Given the description of an element on the screen output the (x, y) to click on. 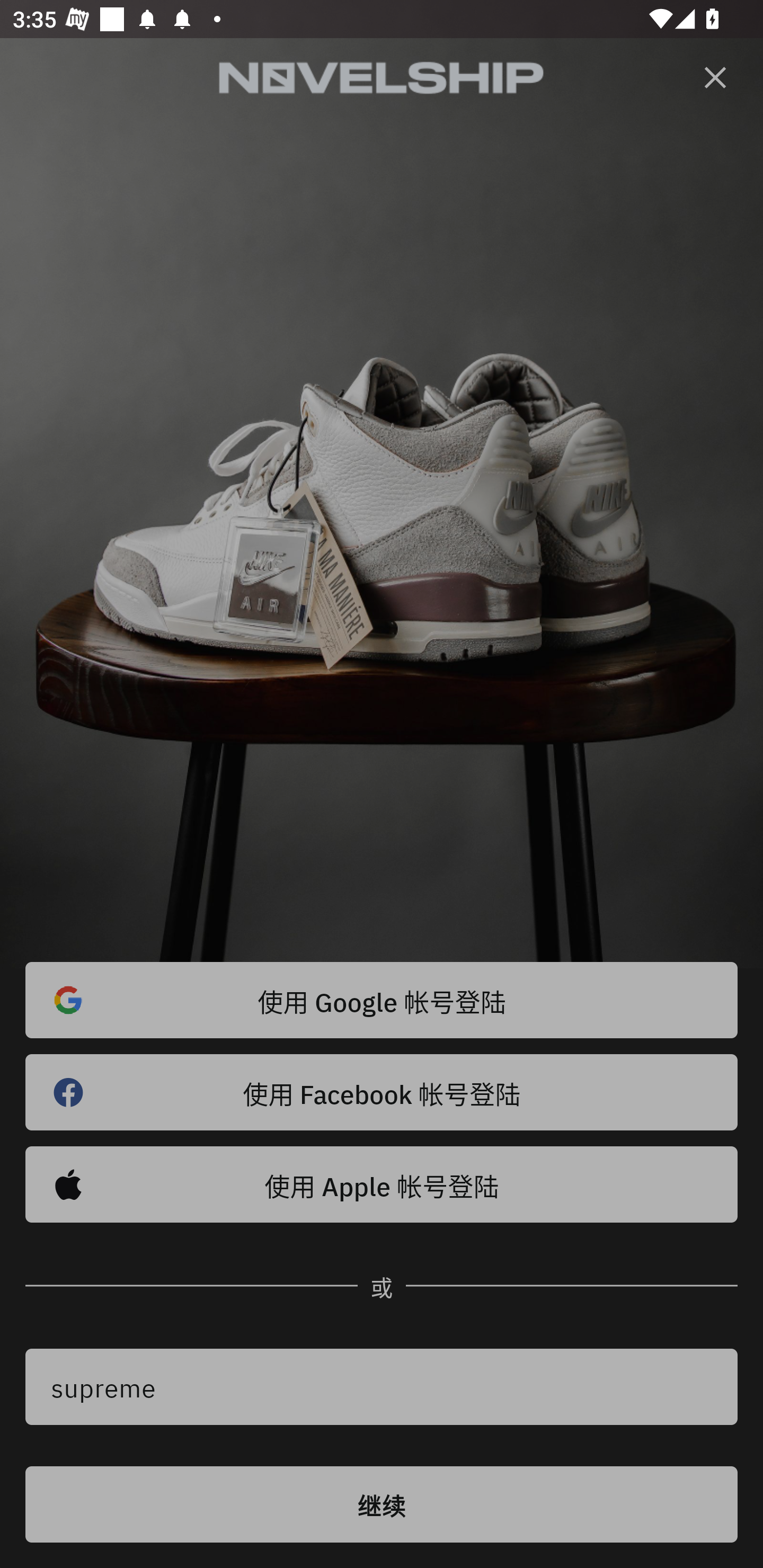
使用 Google 帐号登陆 (381, 1000)
使用 Facebook 帐号登陆 󰈌 (381, 1091)
 使用 Apple 帐号登陆 (381, 1184)
supreme (381, 1386)
继续 (381, 1504)
